Given the description of an element on the screen output the (x, y) to click on. 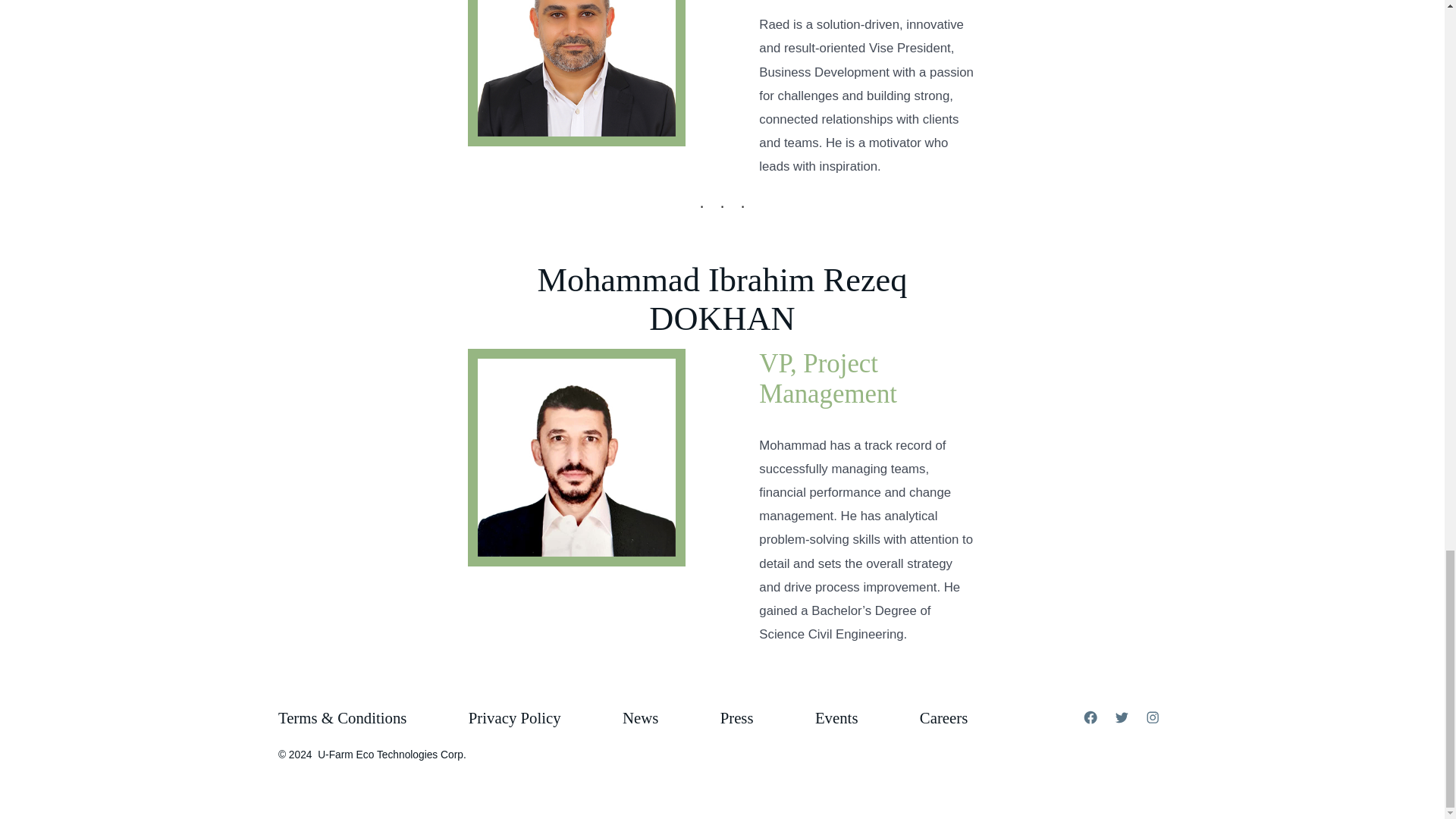
News (640, 718)
Events (836, 718)
Open Twitter in a new tab (1121, 717)
Press (736, 718)
Open Instagram in a new tab (1152, 717)
Careers (942, 718)
Privacy Policy (514, 718)
Open Facebook in a new tab (1090, 717)
